Given the description of an element on the screen output the (x, y) to click on. 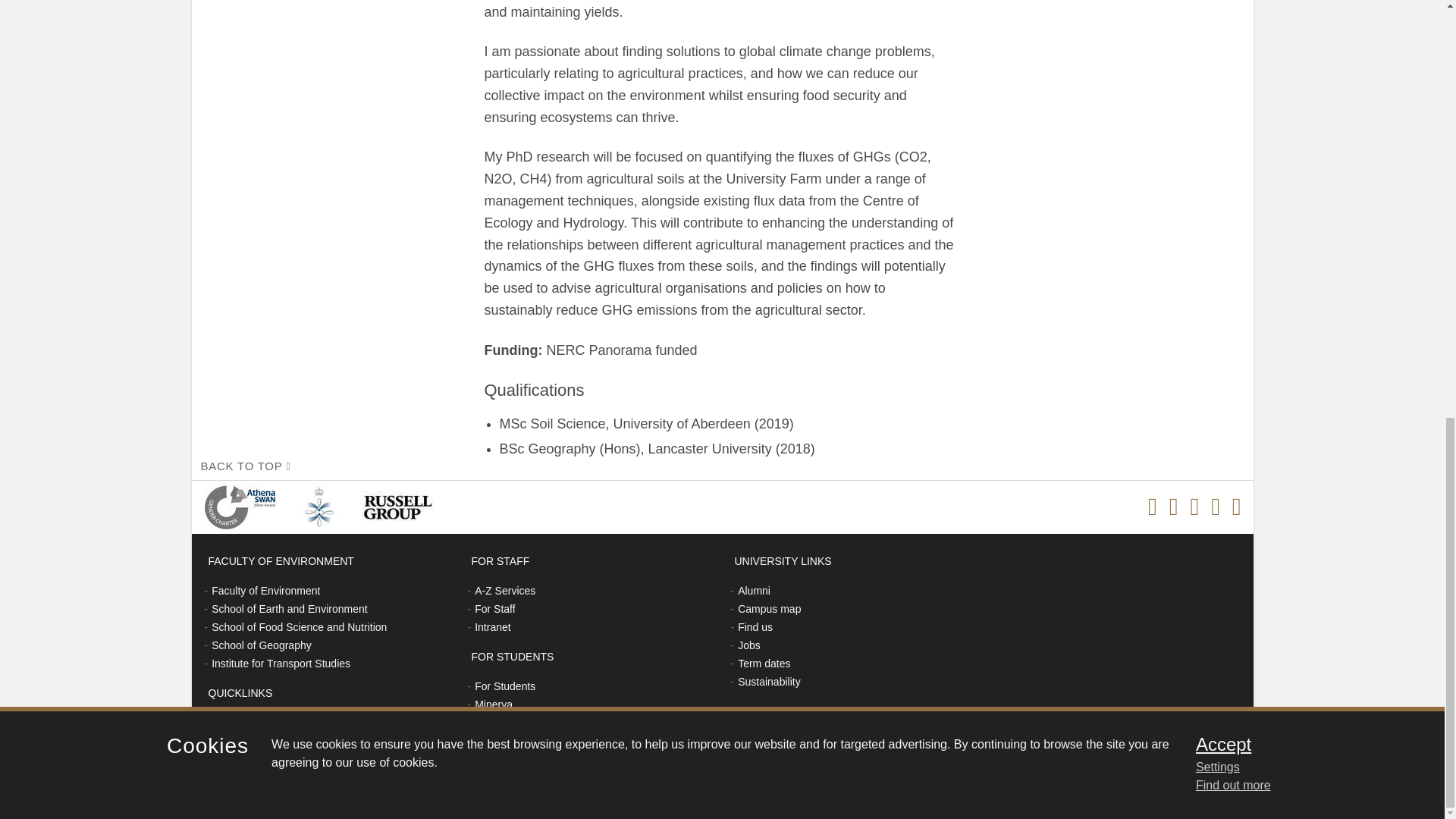
Visit Queen's anniversary prize (321, 506)
Visit Russell Group (400, 506)
Visit Athena SWAN Silver award (242, 506)
